Given the description of an element on the screen output the (x, y) to click on. 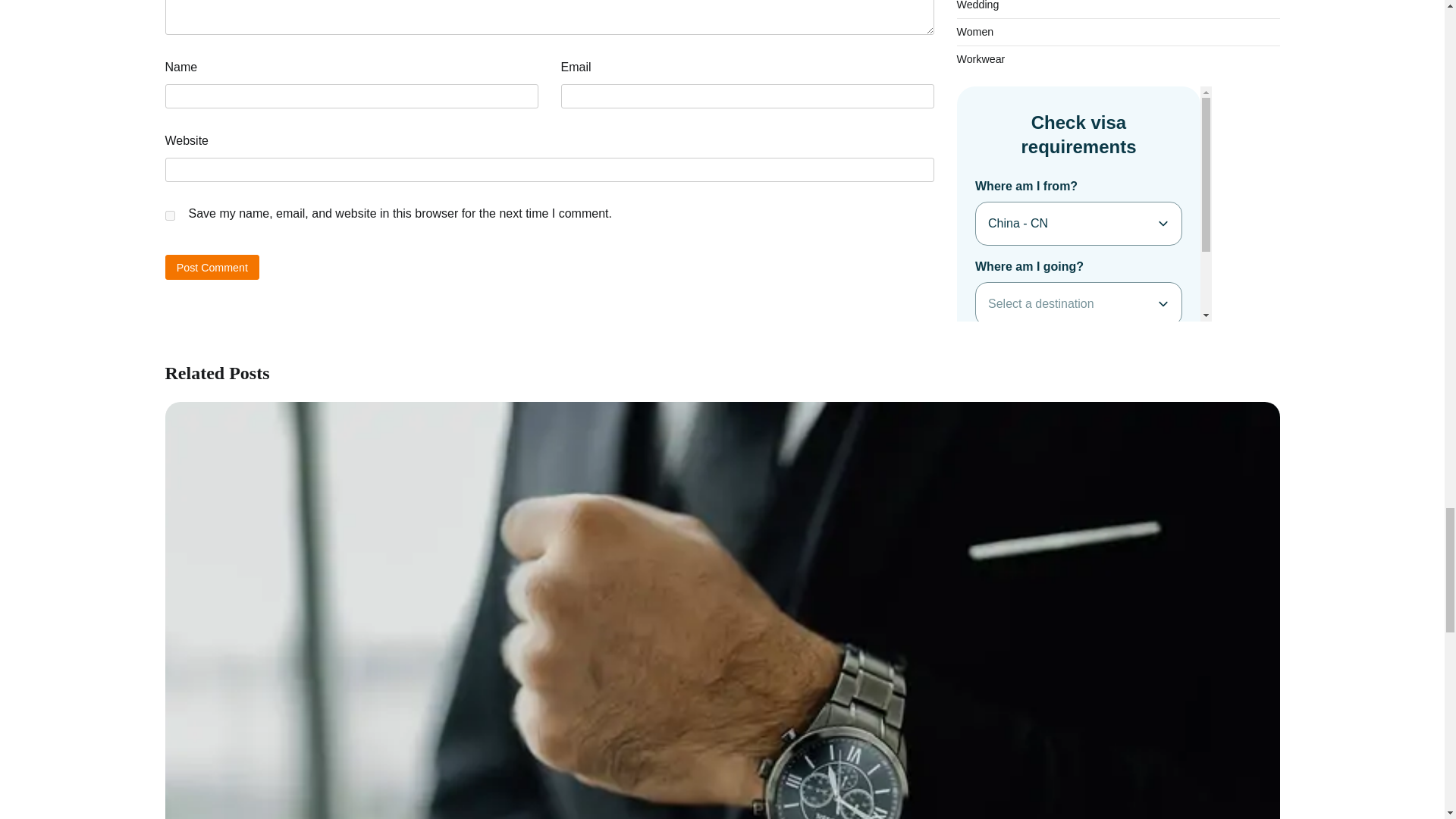
Post Comment (212, 267)
Post Comment (212, 267)
yes (169, 215)
